Given the description of an element on the screen output the (x, y) to click on. 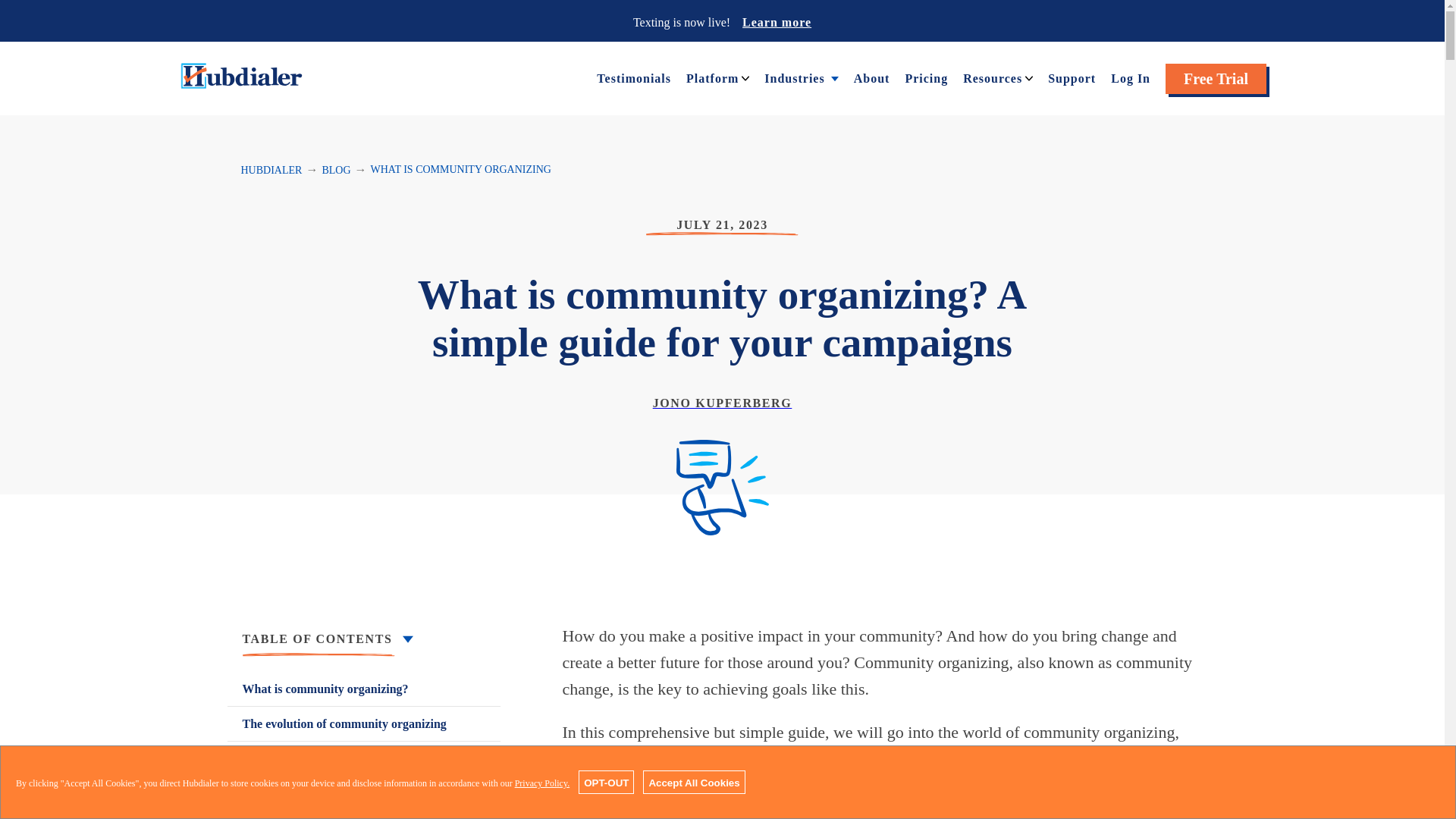
BLOG (335, 170)
Privacy Policy. (542, 783)
Free Trial (1216, 78)
Platform (711, 77)
Support (1072, 77)
Resources (992, 77)
Accept All Cookies (693, 781)
OPT-OUT (605, 781)
HUBDIALER (271, 170)
Pricing (925, 77)
WHAT IS COMMUNITY ORGANIZING (461, 169)
The evolution of community organizing (363, 723)
What is the first step in community organizing? (363, 768)
Testimonials (633, 77)
